Given the description of an element on the screen output the (x, y) to click on. 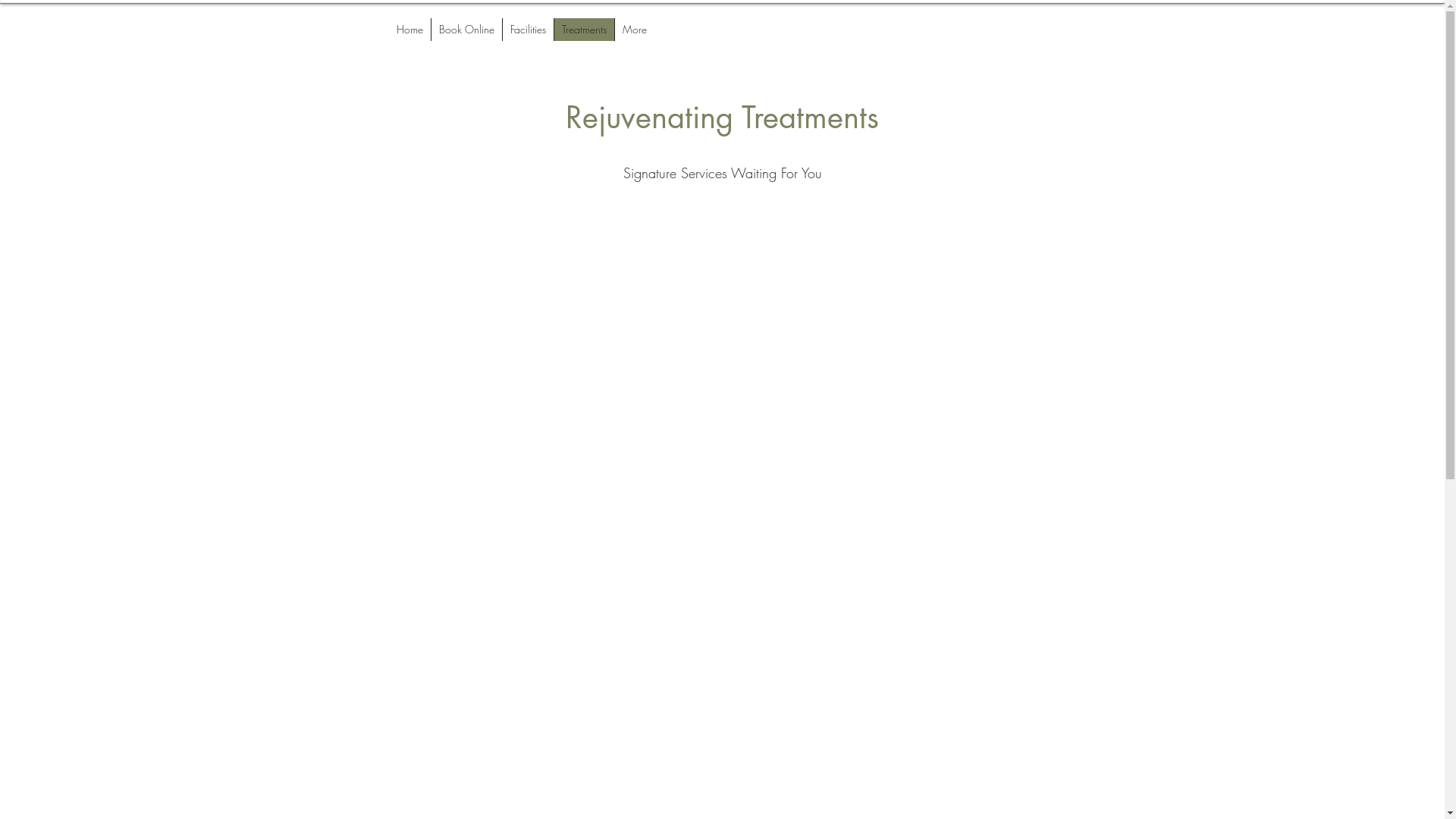
Facilities Element type: text (527, 29)
Treatments Element type: text (583, 29)
Book Online Element type: text (466, 29)
Home Element type: text (408, 29)
